Given the description of an element on the screen output the (x, y) to click on. 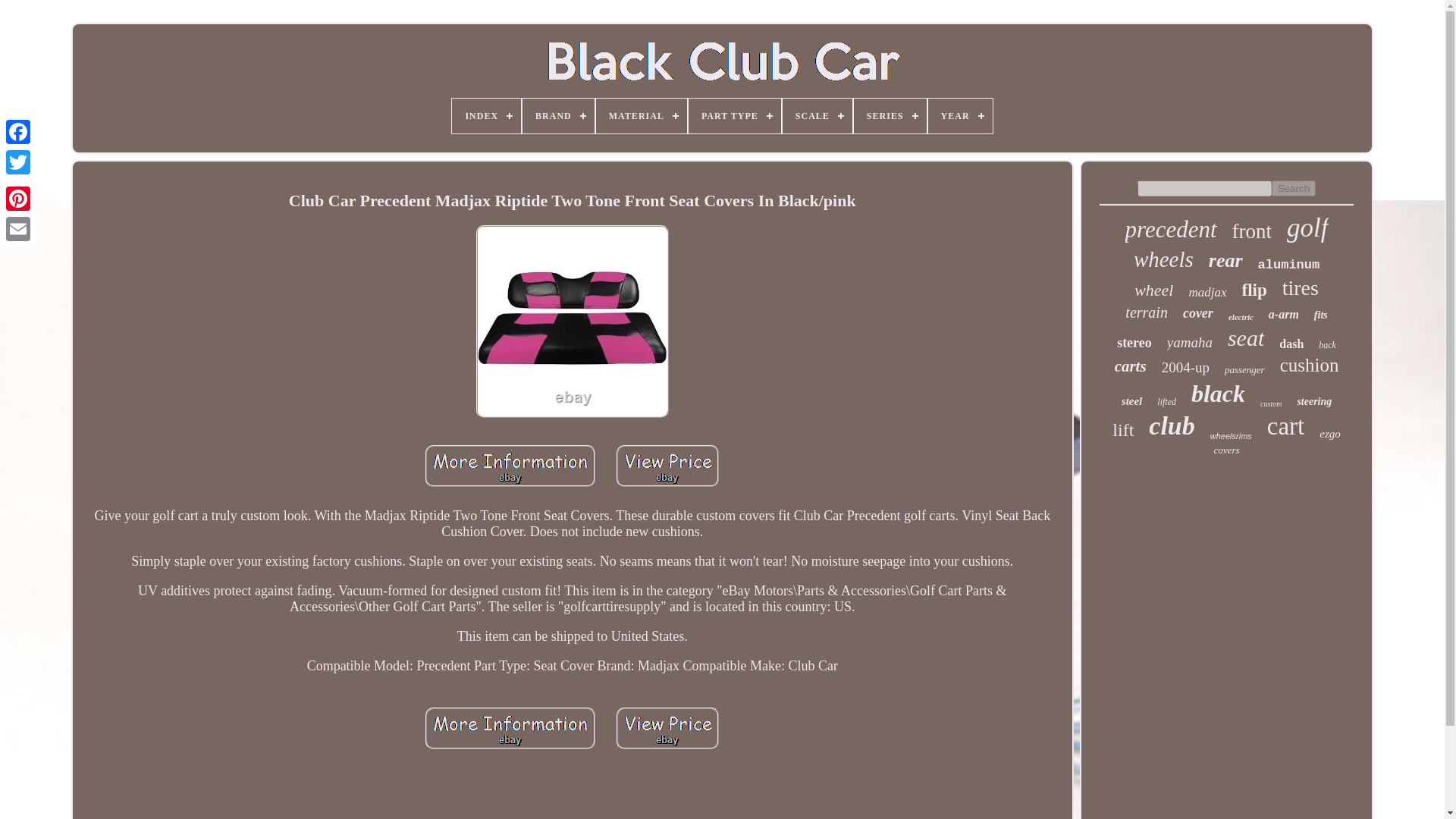
Search (1293, 188)
MATERIAL (641, 115)
INDEX (486, 115)
BRAND (558, 115)
